Given the description of an element on the screen output the (x, y) to click on. 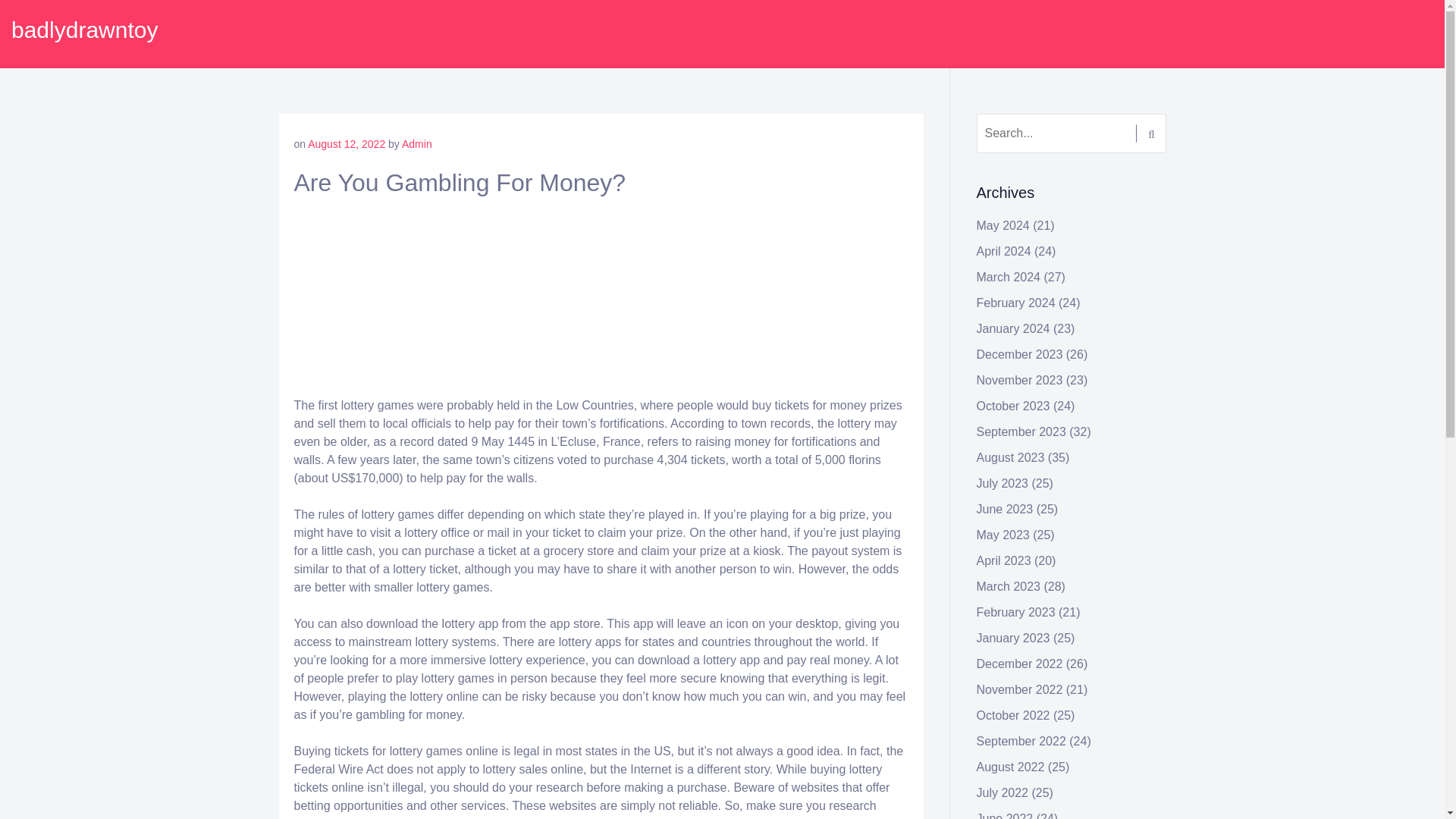
January 2024 (1012, 328)
September 2022 (1020, 740)
November 2022 (1019, 689)
badlydrawntoy (84, 29)
September 2023 (1020, 431)
May 2023 (1002, 534)
August 2023 (1010, 457)
October 2022 (1012, 715)
December 2022 (1019, 663)
August 12, 2022 (346, 143)
